Given the description of an element on the screen output the (x, y) to click on. 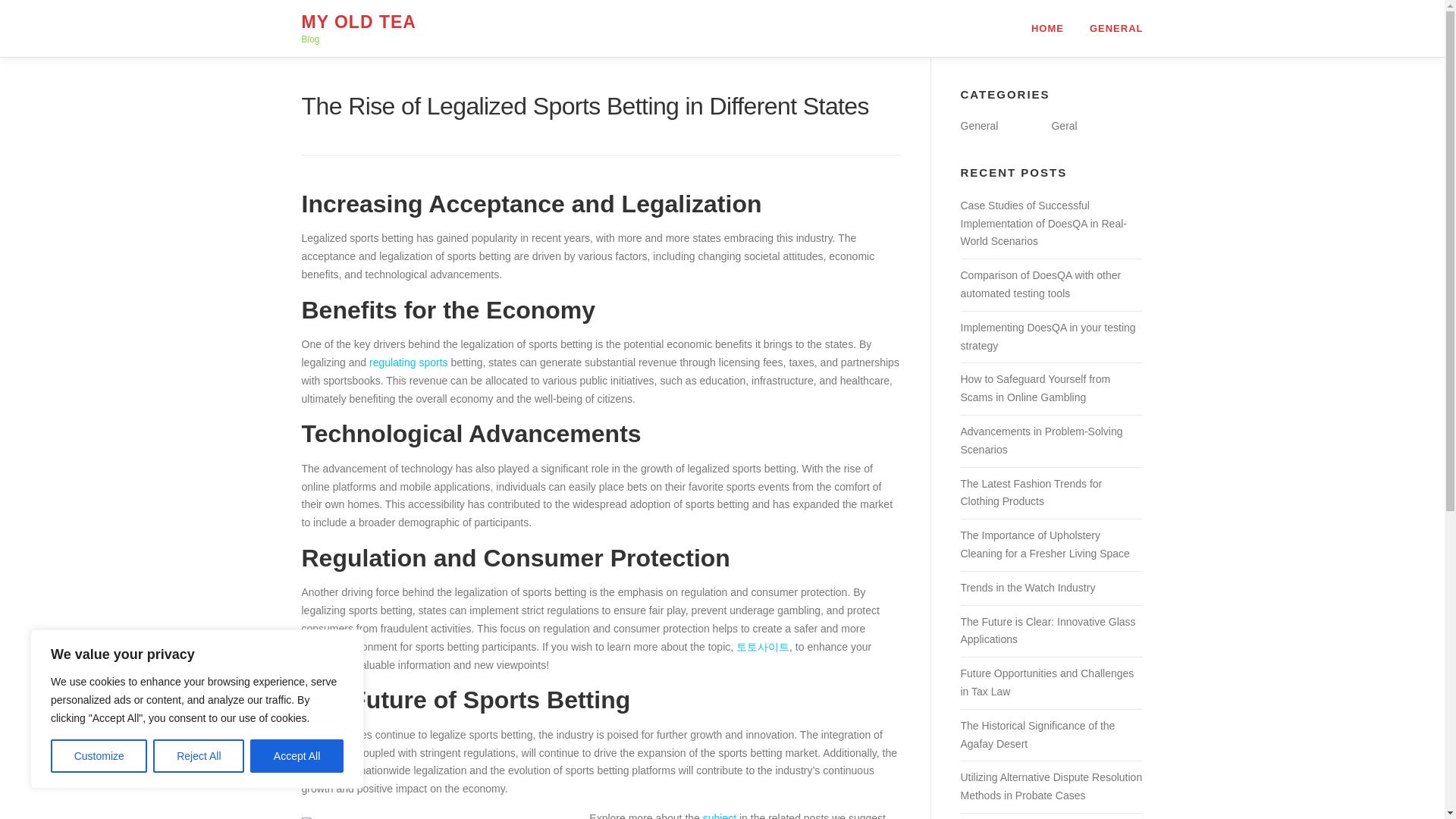
Geral (1064, 125)
Reject All (198, 756)
HOME (1047, 28)
The Future is Clear: Innovative Glass Applications (1047, 630)
Comparison of DoesQA with other automated testing tools (1040, 284)
GENERAL (1109, 28)
Future Opportunities and Challenges in Tax Law (1046, 682)
General (978, 125)
Trends in the Watch Industry (1026, 587)
